Given the description of an element on the screen output the (x, y) to click on. 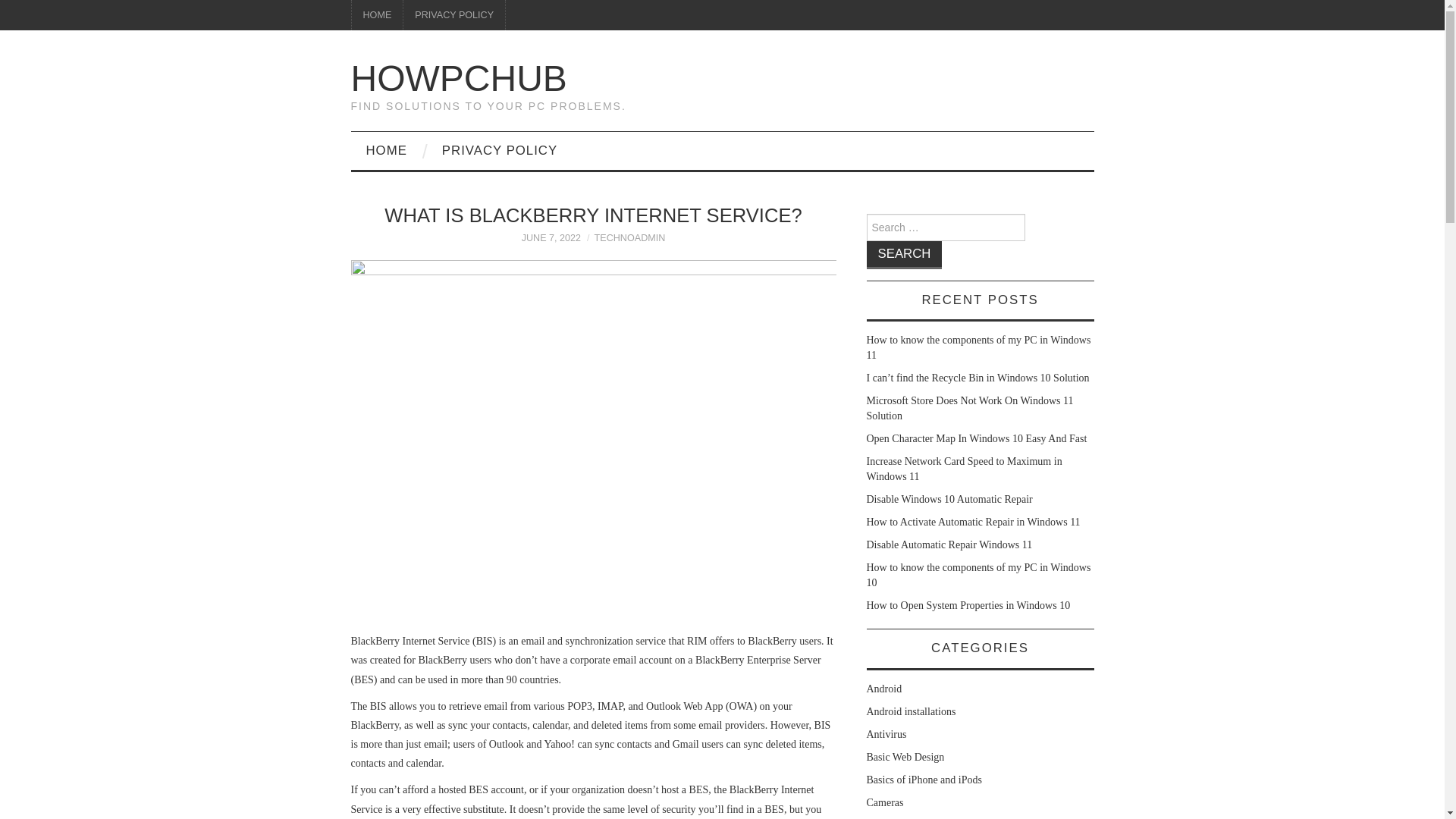
TECHNOADMIN (629, 237)
Search for: (945, 226)
How to Open System Properties in Windows 10 (968, 604)
Microsoft Store Does Not Work On Windows 11 Solution (969, 407)
Basic Web Design (904, 756)
How to Activate Automatic Repair in Windows 11 (973, 521)
Android installations (910, 710)
Search (904, 254)
HOWPCHUB (458, 78)
JUNE 7, 2022 (550, 237)
